Given the description of an element on the screen output the (x, y) to click on. 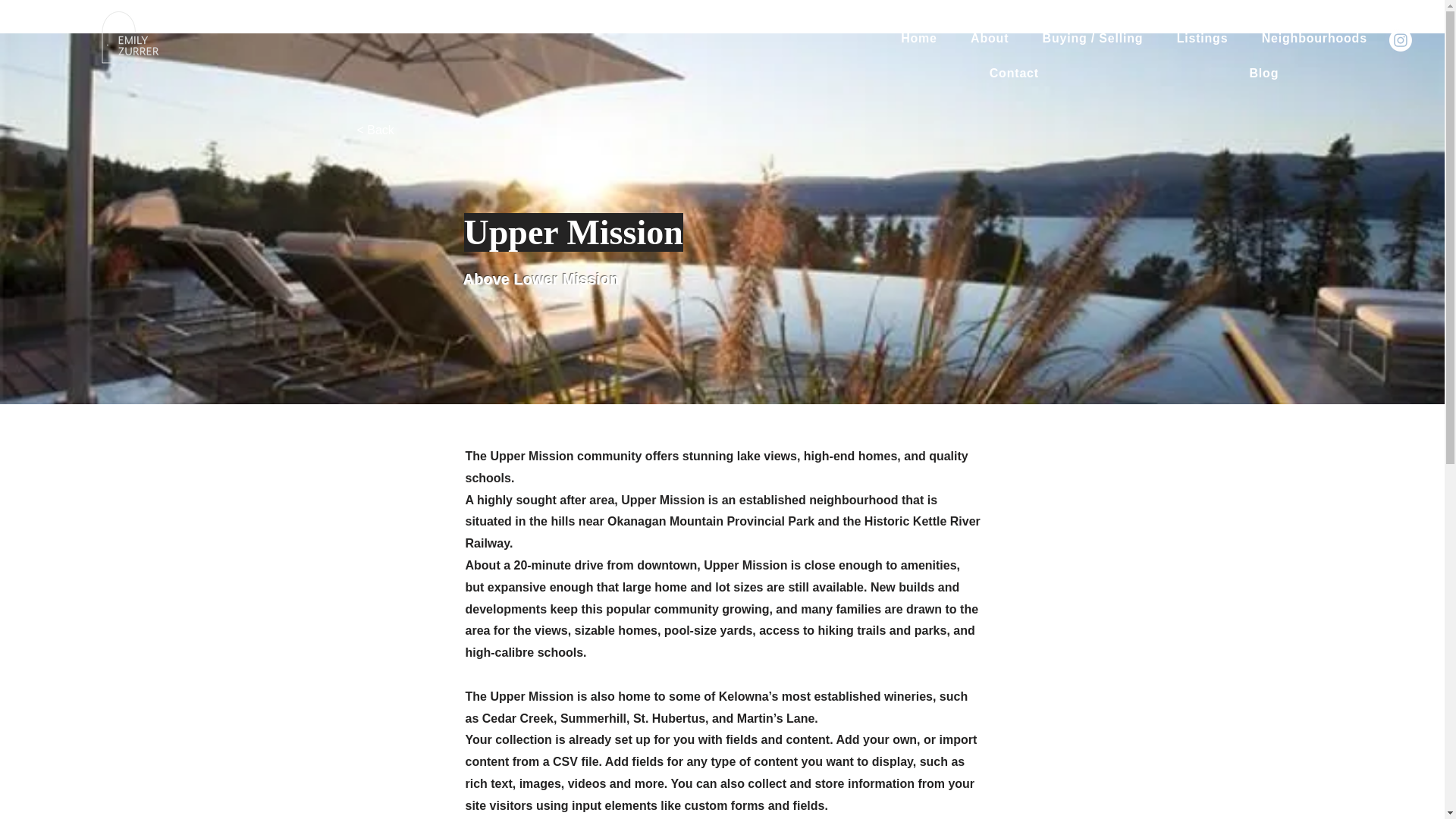
Home (918, 38)
Blog (1263, 72)
Contact (1013, 72)
Listings (1202, 38)
Neighbourhoods (1313, 38)
About (989, 38)
